Given the description of an element on the screen output the (x, y) to click on. 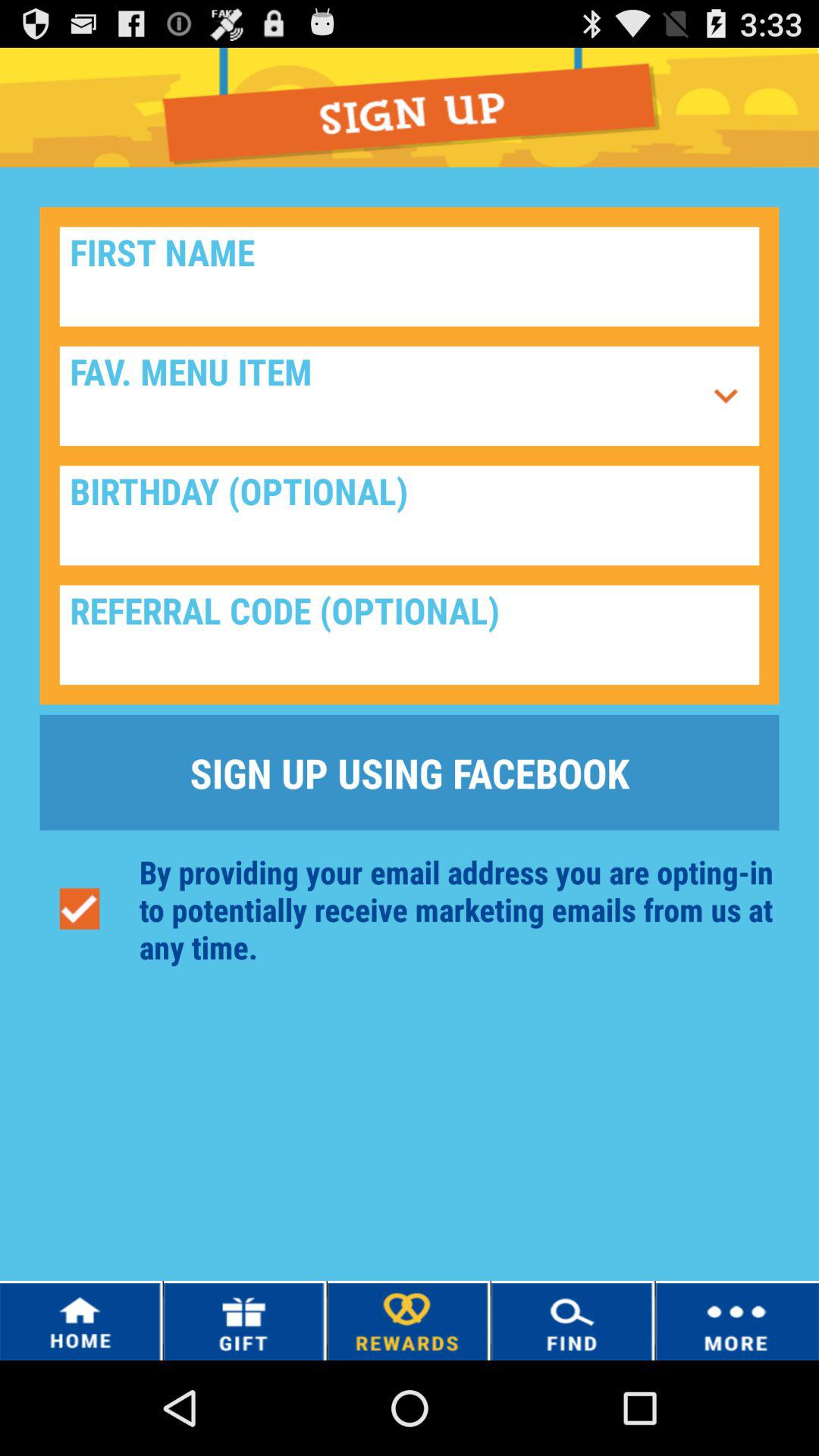
open the icon on the left (79, 909)
